Given the description of an element on the screen output the (x, y) to click on. 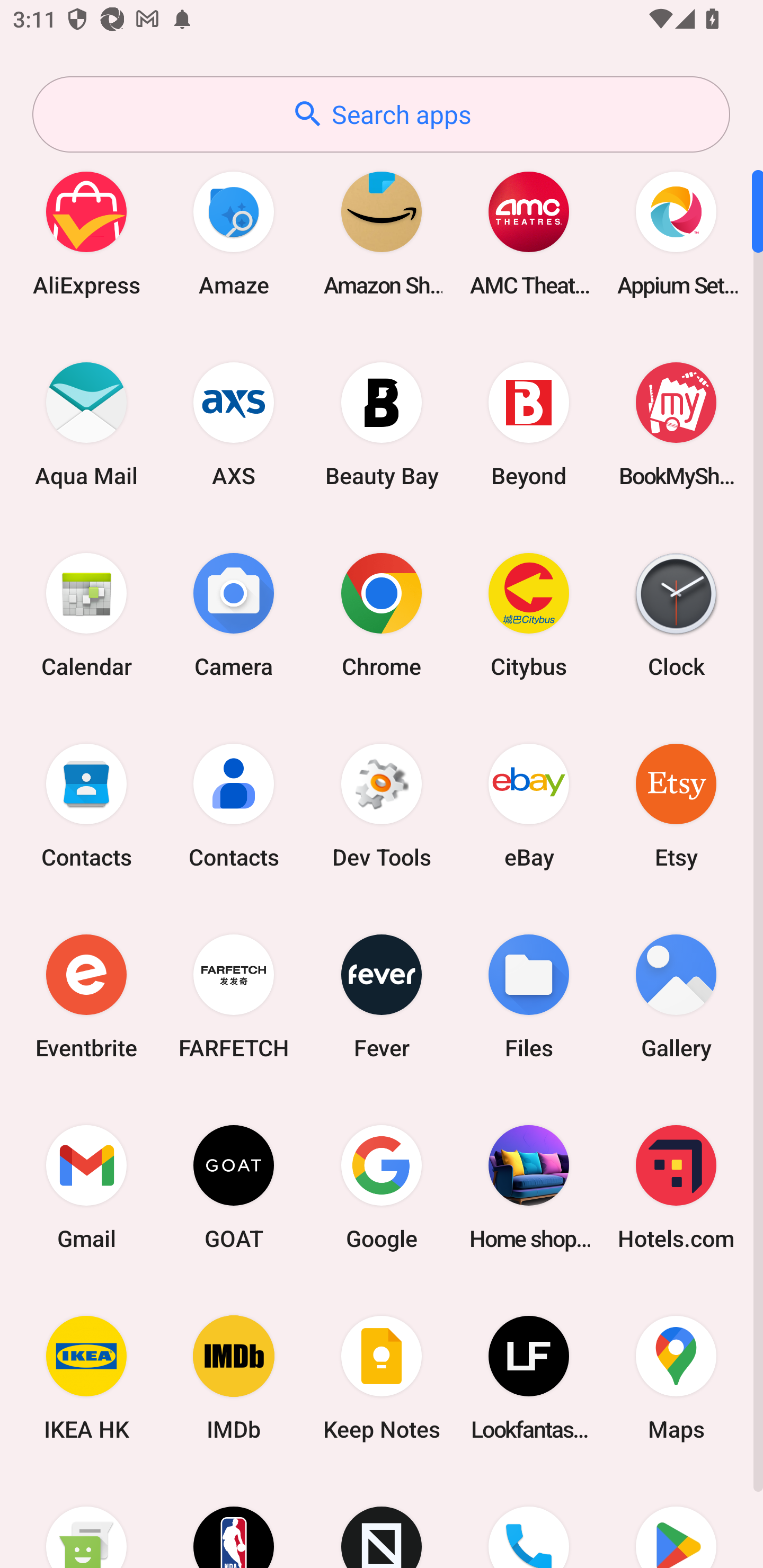
  Search apps (381, 114)
AliExpress (86, 233)
Amaze (233, 233)
Amazon Shopping (381, 233)
AMC Theatres (528, 233)
Appium Settings (676, 233)
Aqua Mail (86, 424)
AXS (233, 424)
Beauty Bay (381, 424)
Beyond (528, 424)
BookMyShow (676, 424)
Calendar (86, 614)
Camera (233, 614)
Chrome (381, 614)
Citybus (528, 614)
Clock (676, 614)
Contacts (86, 805)
Contacts (233, 805)
Dev Tools (381, 805)
eBay (528, 805)
Etsy (676, 805)
Eventbrite (86, 996)
FARFETCH (233, 996)
Fever (381, 996)
Files (528, 996)
Gallery (676, 996)
Gmail (86, 1186)
GOAT (233, 1186)
Google (381, 1186)
Home shopping (528, 1186)
Hotels.com (676, 1186)
IKEA HK (86, 1377)
IMDb (233, 1377)
Keep Notes (381, 1377)
Lookfantastic (528, 1377)
Maps (676, 1377)
